Given the description of an element on the screen output the (x, y) to click on. 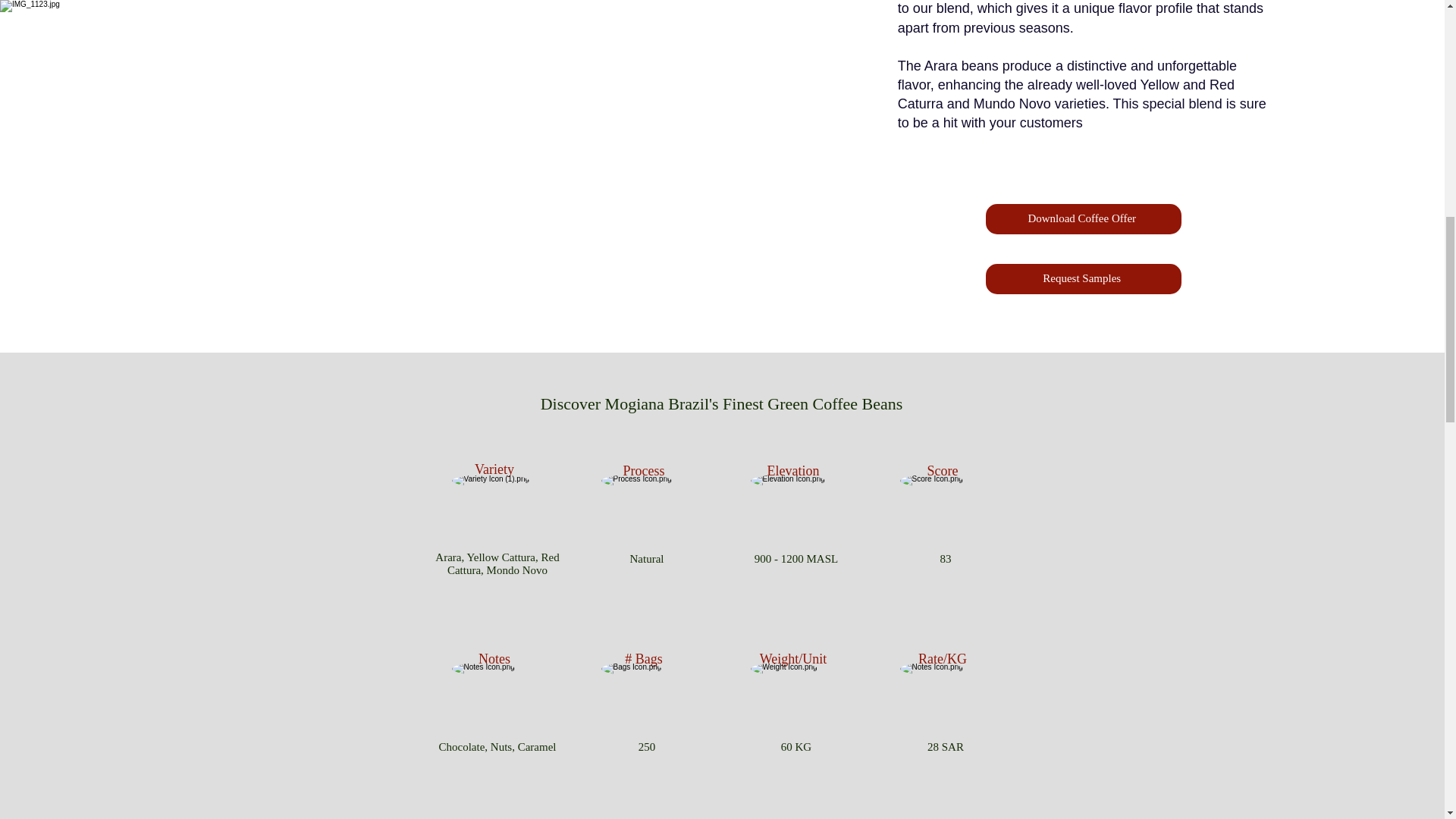
Download Coffee Offer (1082, 218)
Request Samples (1082, 278)
